Given the description of an element on the screen output the (x, y) to click on. 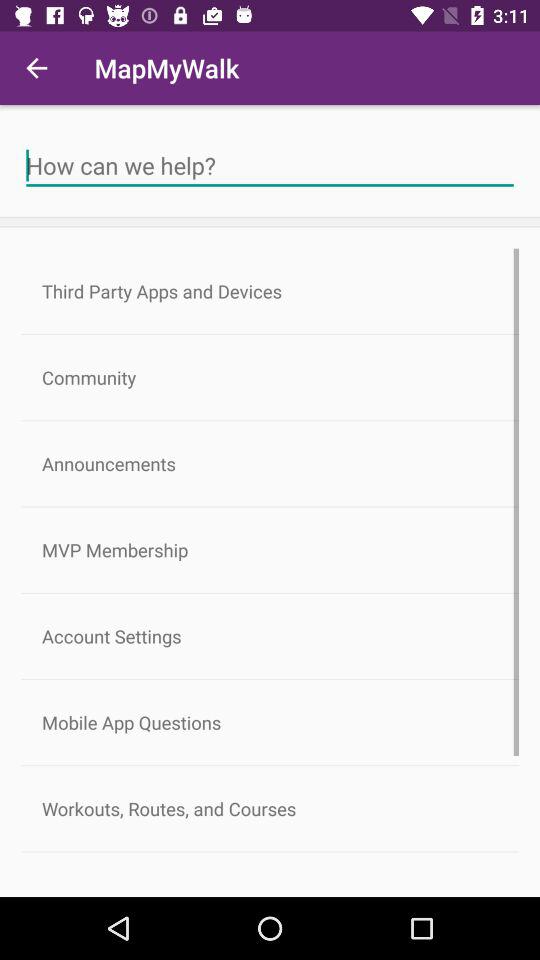
choose the mobile app questions icon (269, 722)
